Given the description of an element on the screen output the (x, y) to click on. 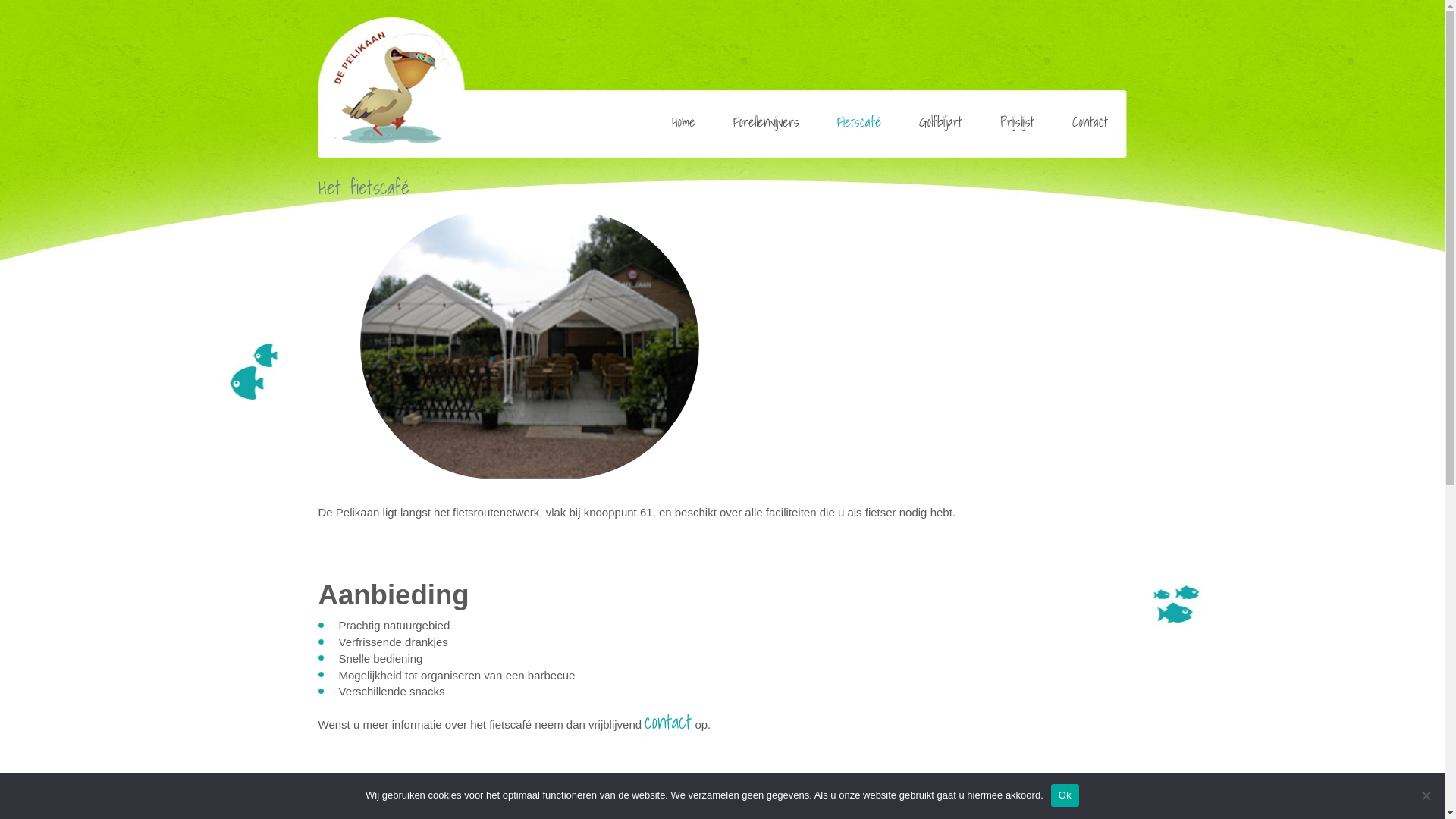
Home Element type: text (682, 121)
contact Element type: text (667, 721)
Prijslijst Element type: text (1017, 121)
Forellenvijvers Element type: text (766, 121)
Contact Element type: text (1089, 121)
Golfbiljart Element type: text (939, 121)
Ok Element type: text (1065, 795)
